Given the description of an element on the screen output the (x, y) to click on. 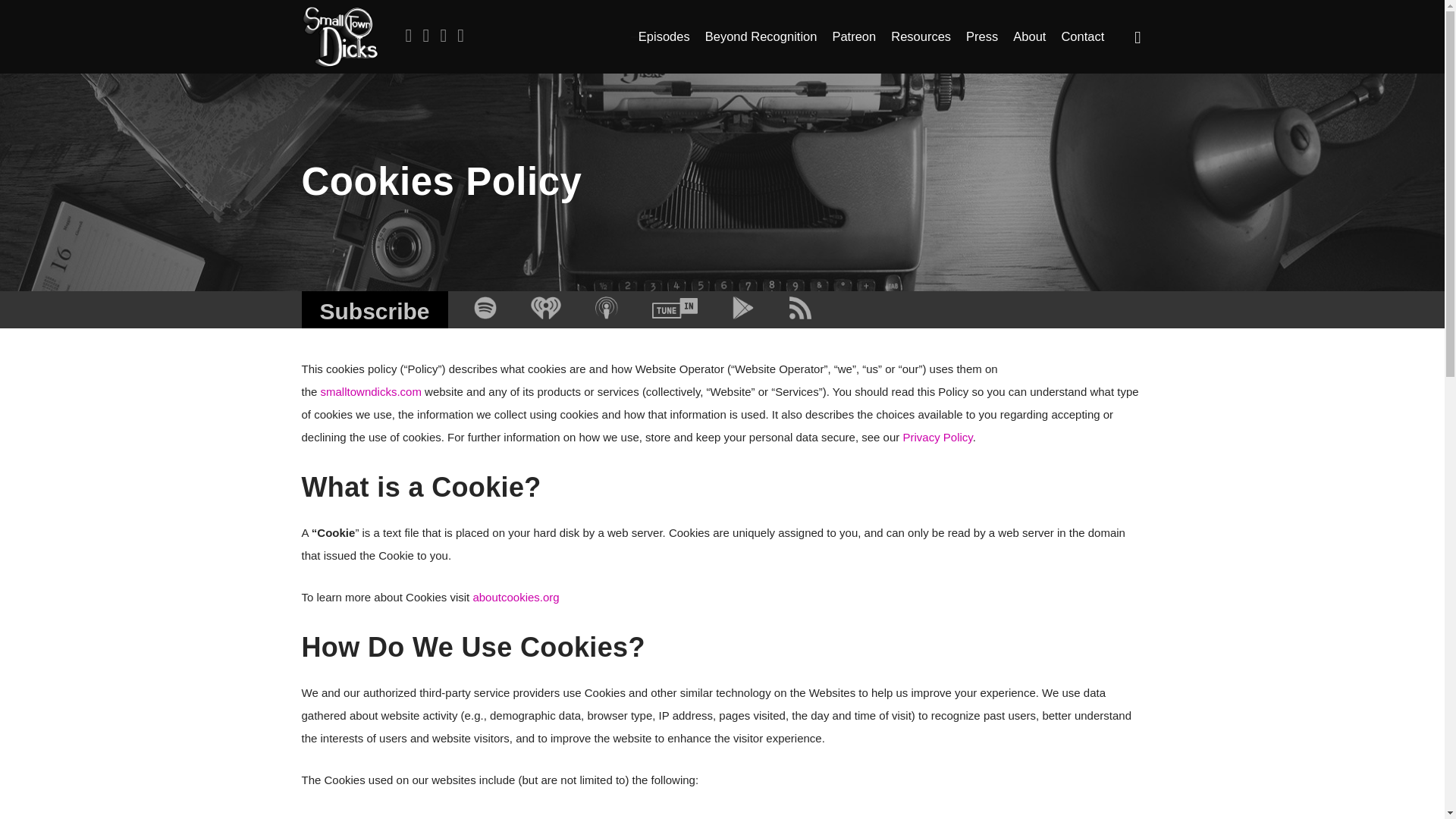
Press (982, 36)
About (1029, 36)
Resources (920, 36)
Episodes (663, 36)
Beyond Recognition (761, 36)
Privacy Policy (937, 436)
Contact (1082, 36)
aboutcookies.org (515, 596)
Patreon (853, 36)
smalltowndicks.com (371, 391)
